Given the description of an element on the screen output the (x, y) to click on. 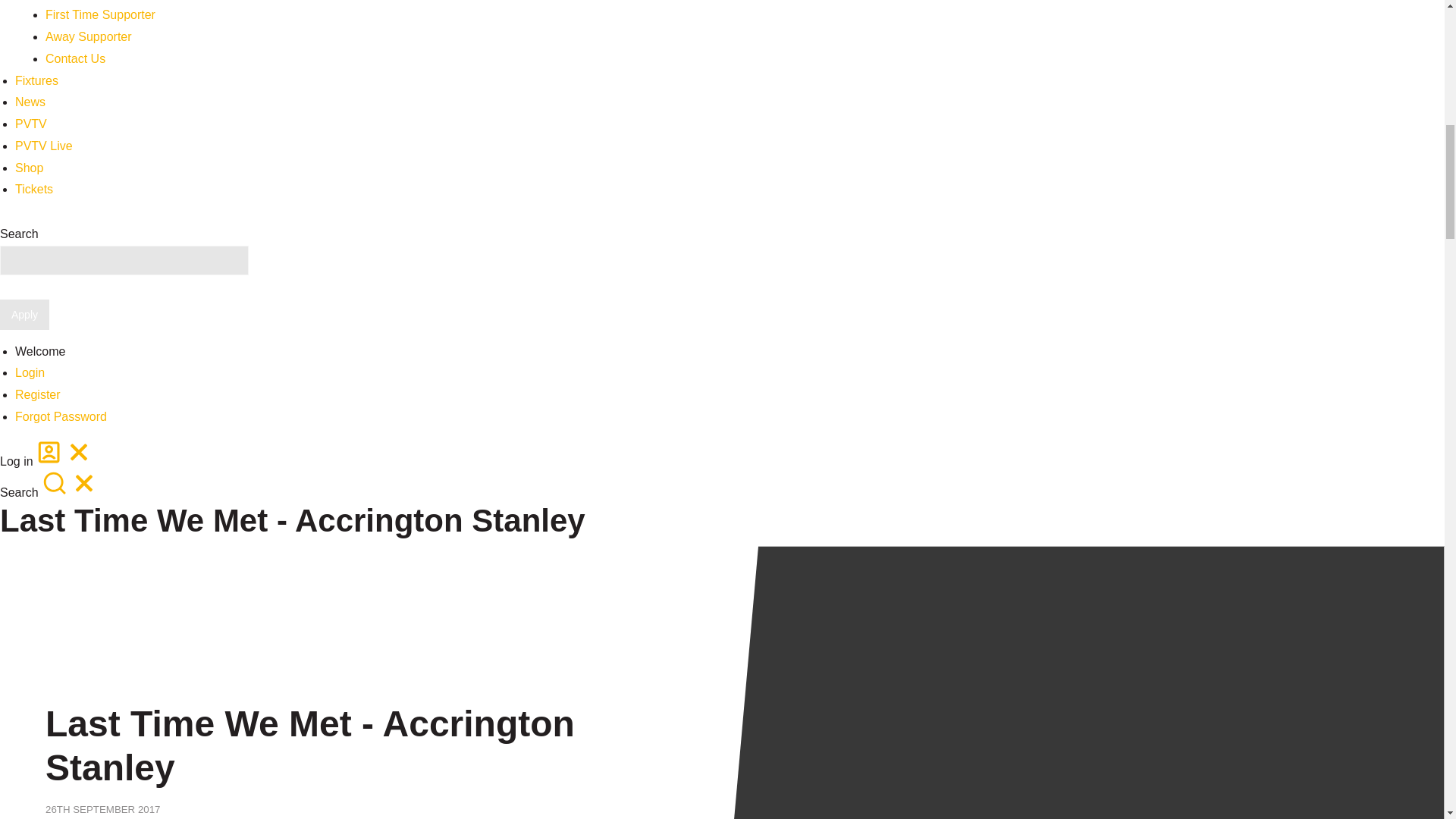
search (54, 483)
Contact Us (74, 58)
Fixtures (36, 80)
First Time Supporter (100, 14)
account (49, 452)
Away Supporter (88, 36)
Apply (24, 314)
